Given the description of an element on the screen output the (x, y) to click on. 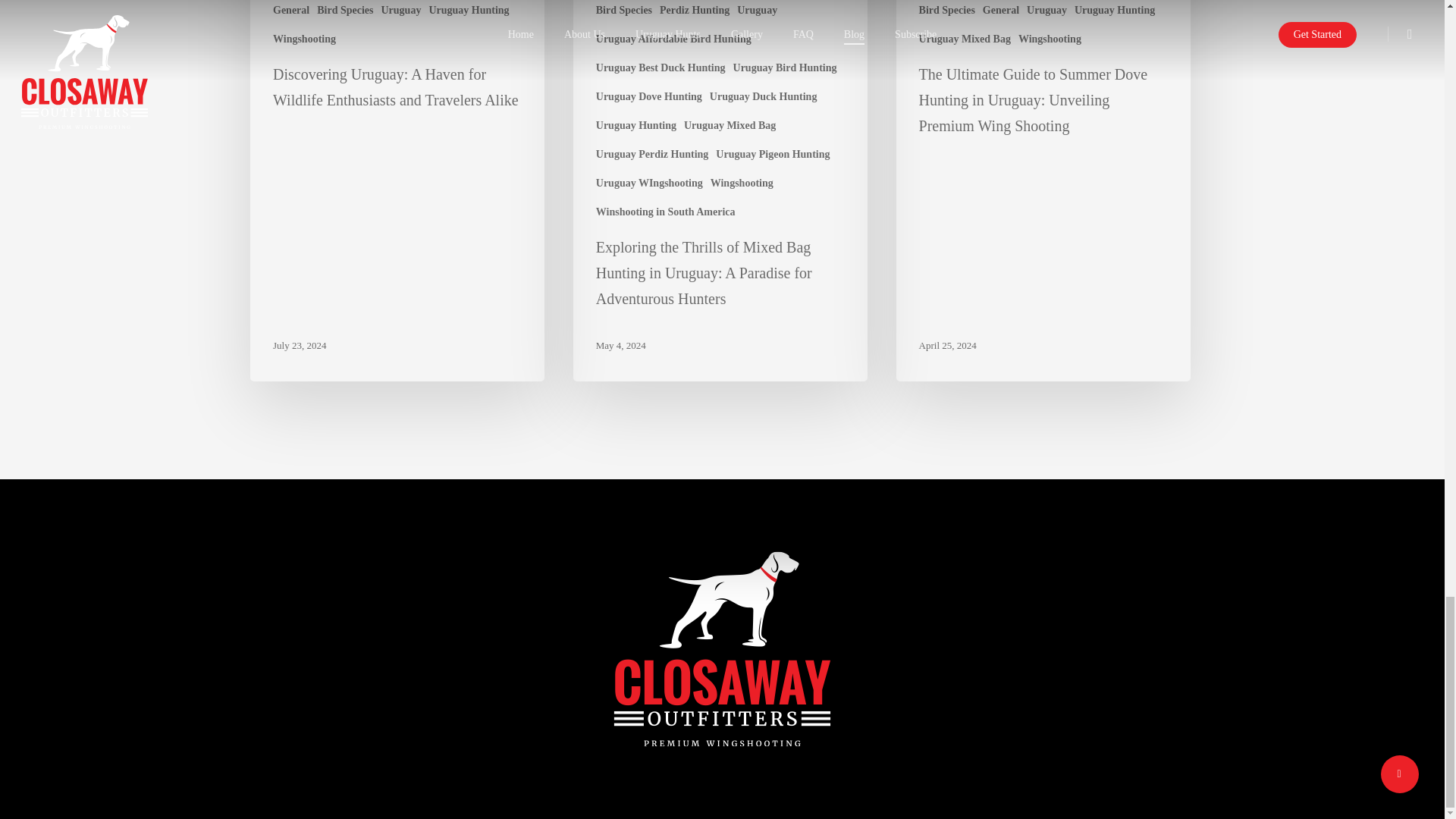
Bird Species (623, 10)
General (290, 10)
Uruguay (400, 10)
Uruguay Best Duck Hunting (660, 67)
Uruguay Affordable Bird Hunting (673, 38)
Bird Species (344, 10)
Uruguay Hunting (468, 10)
Uruguay (756, 10)
Perdiz Hunting (694, 10)
Uruguay Bird Hunting (785, 67)
Wingshooting (304, 38)
